Given the description of an element on the screen output the (x, y) to click on. 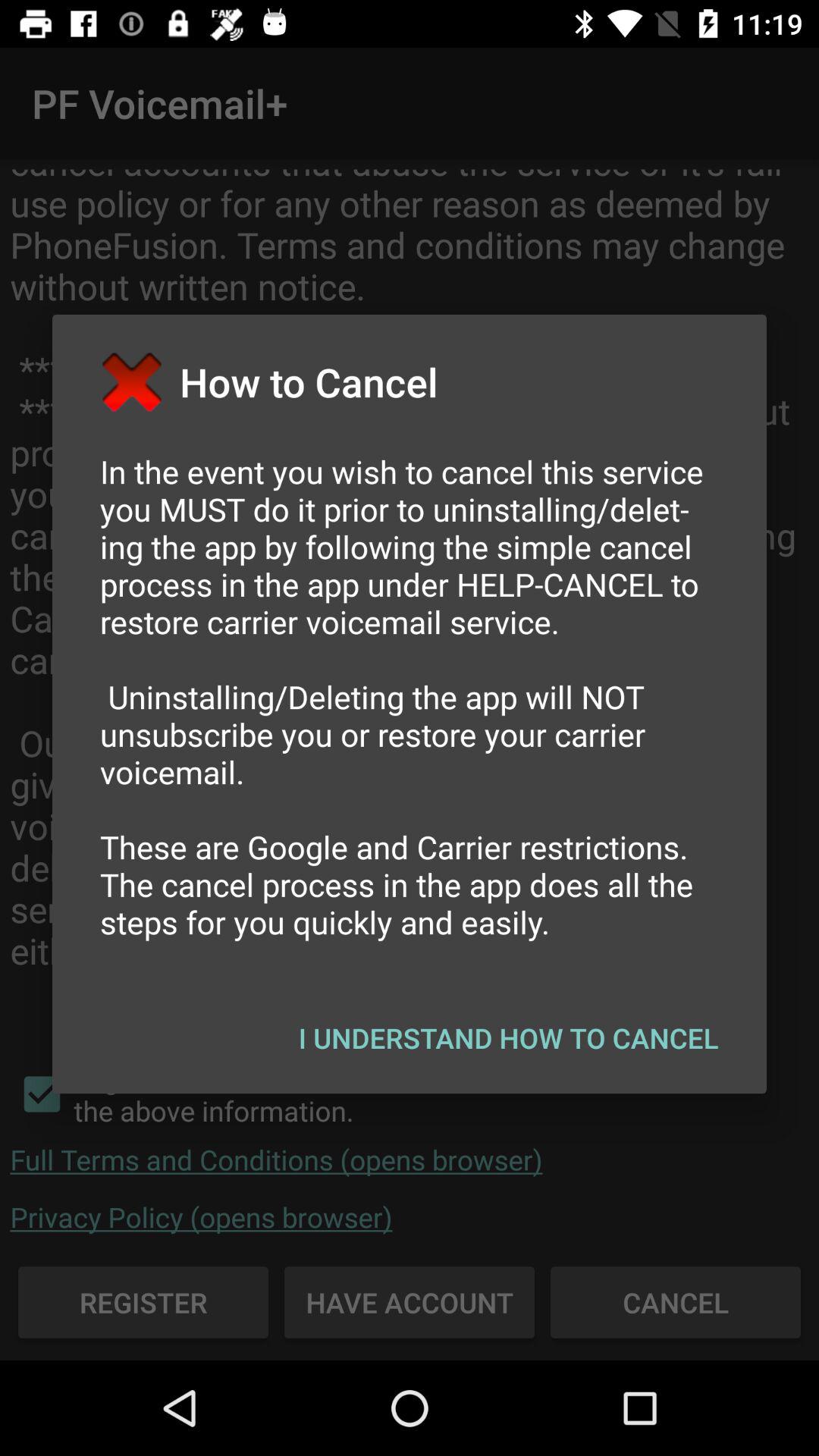
open i understand how button (508, 1037)
